Given the description of an element on the screen output the (x, y) to click on. 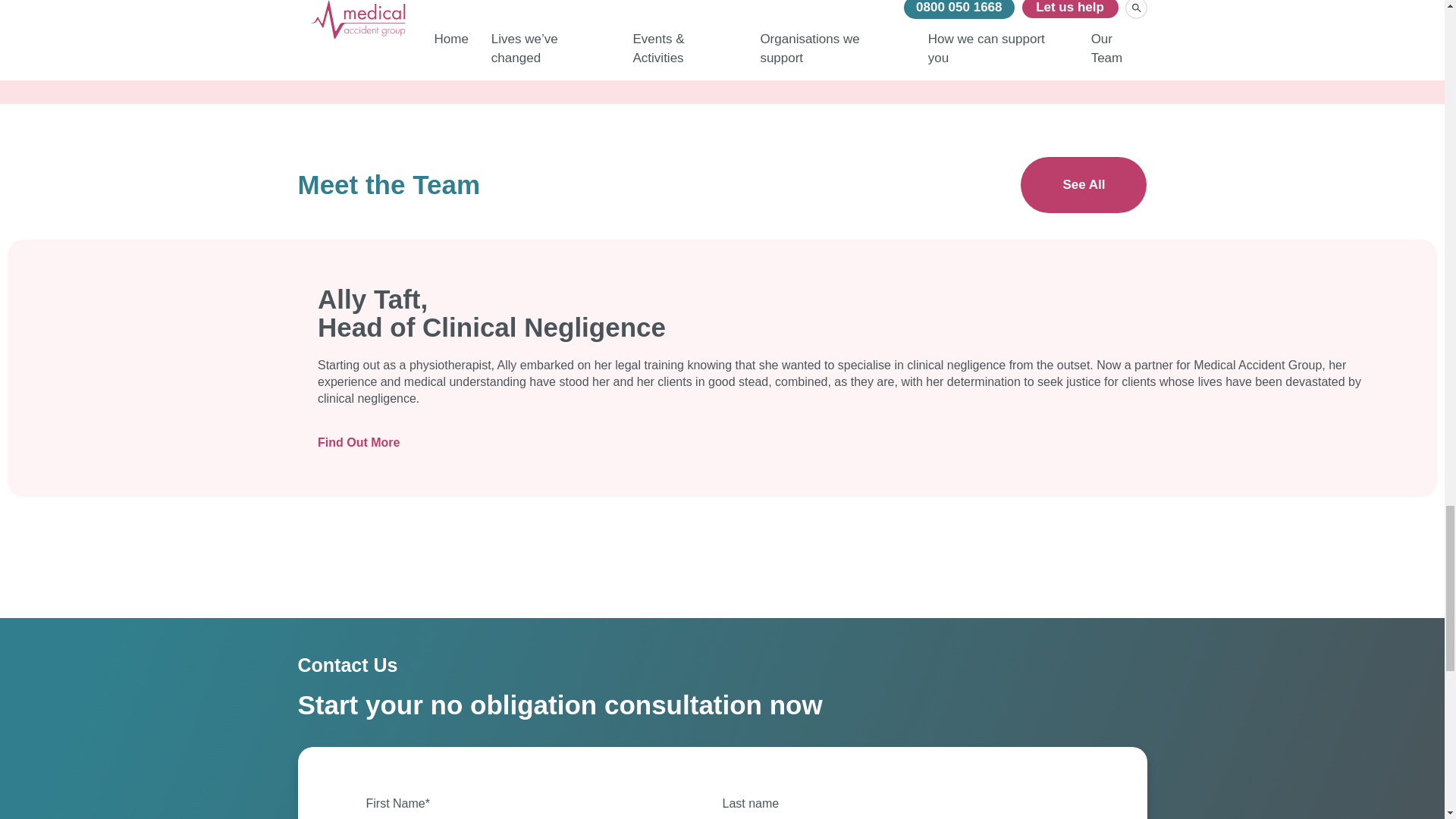
Read More (433, 12)
Read More (721, 12)
See All (1083, 184)
Find Out More (850, 442)
Read More (1010, 12)
